Given the description of an element on the screen output the (x, y) to click on. 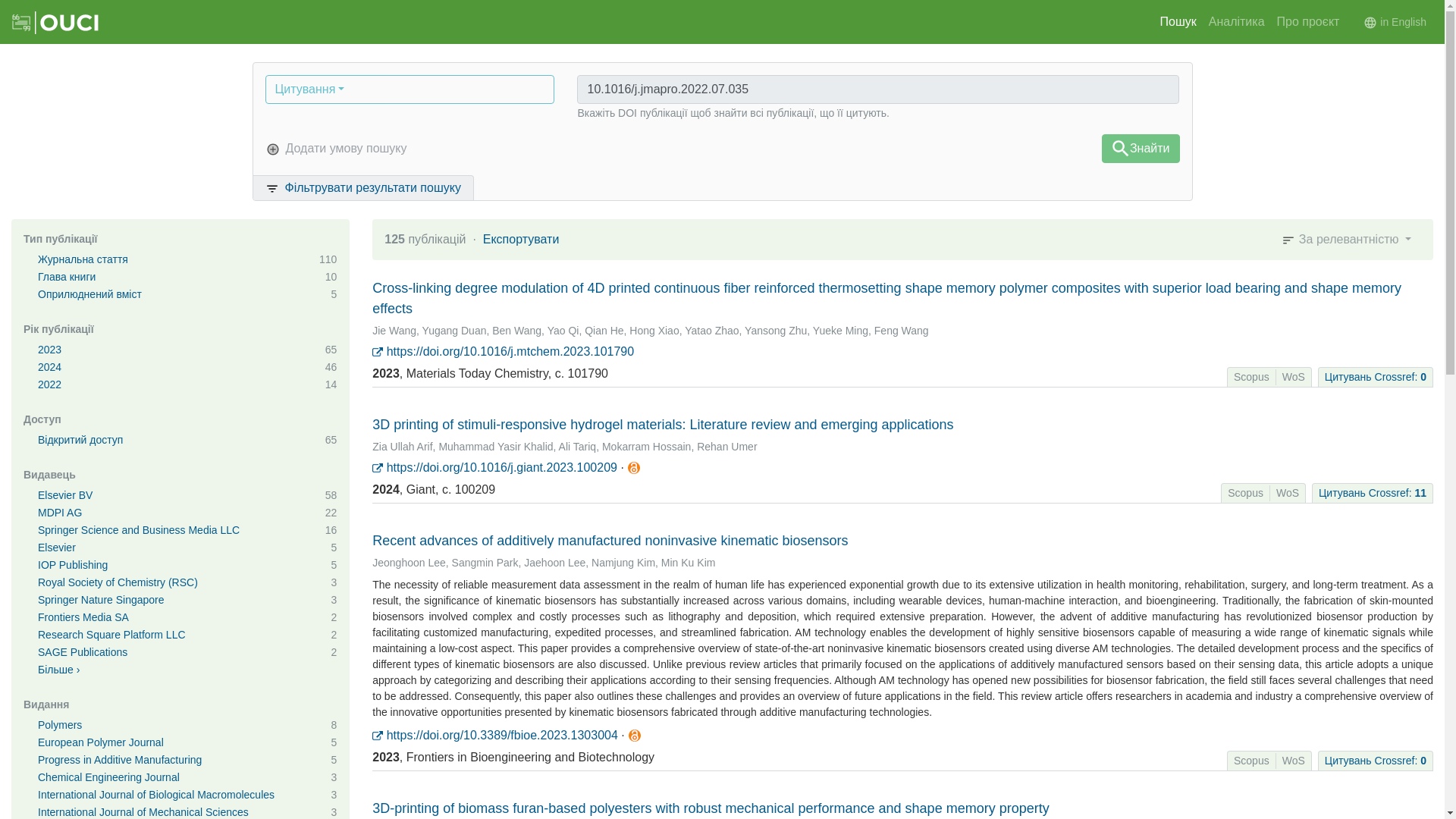
MDPI AG (59, 512)
2023 (49, 349)
IOP Publishing (72, 564)
Research Square Platform LLC (111, 634)
Springer Nature Singapore (100, 599)
Springer Science and Business Media LLC (138, 530)
Elsevier BV (65, 494)
2022 (49, 384)
2024 (49, 367)
in English (1394, 22)
